Given the description of an element on the screen output the (x, y) to click on. 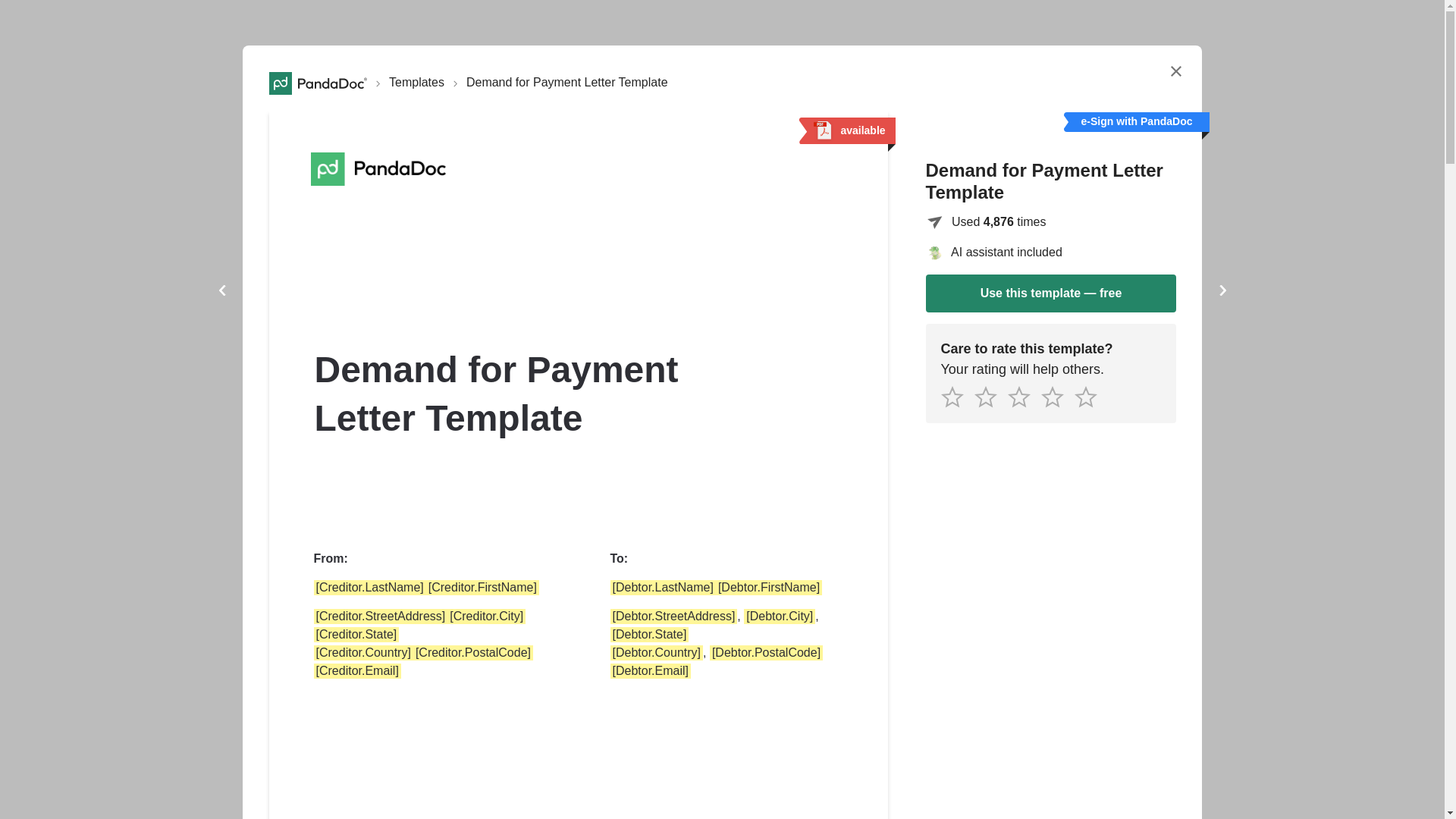
Templates (416, 83)
e-Sign with PandaDoc (722, 96)
